Given the description of an element on the screen output the (x, y) to click on. 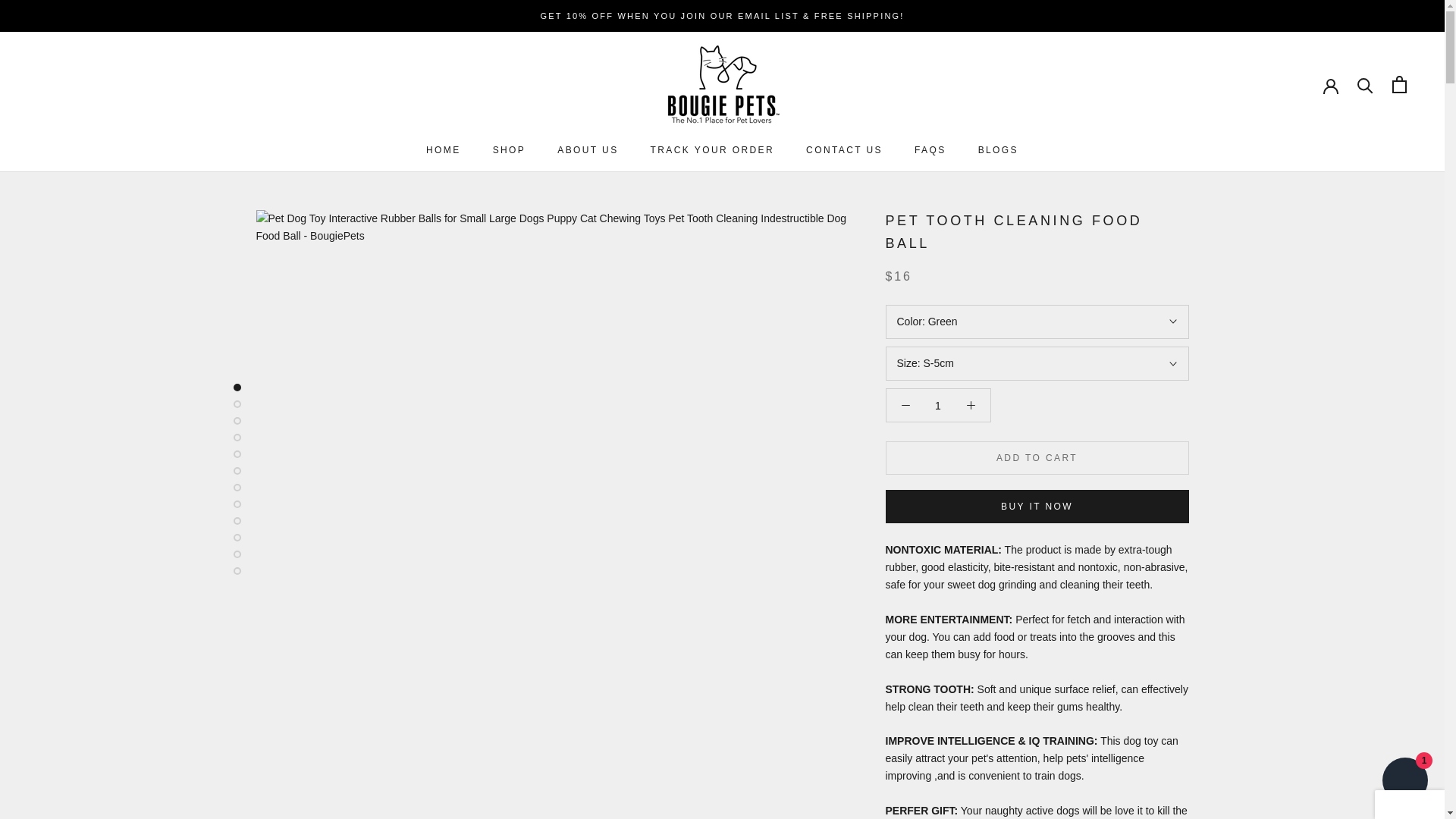
1 (930, 149)
Shopify online store chat (587, 149)
SHOP (844, 149)
